Given the description of an element on the screen output the (x, y) to click on. 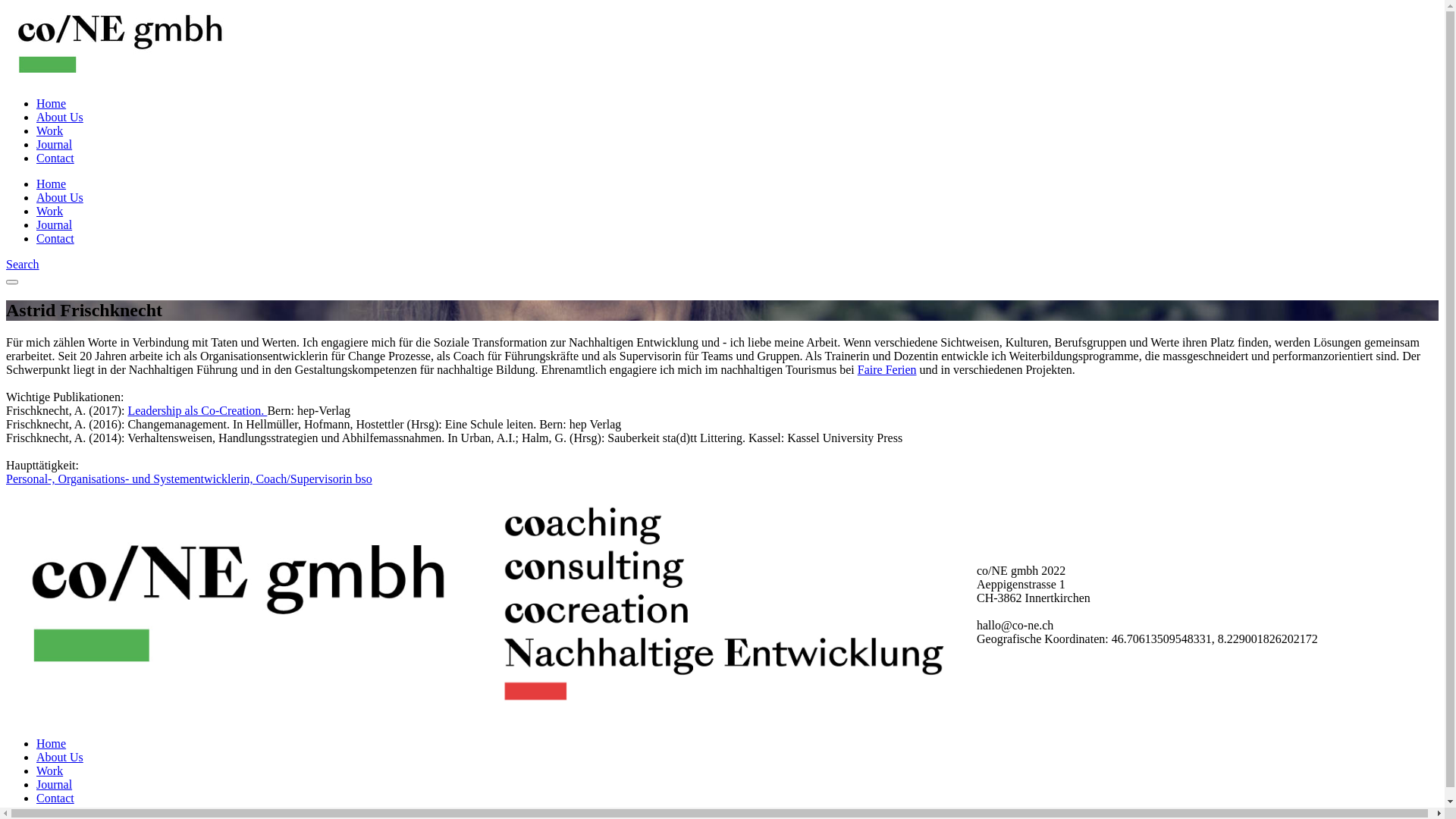
About Us Element type: text (59, 756)
Journal Element type: text (54, 144)
Leadership als Co-Creation.  Element type: text (196, 410)
Contact Element type: text (55, 238)
Search Element type: text (22, 263)
Journal Element type: text (54, 784)
Home Element type: text (50, 183)
Faire Ferien Element type: text (886, 369)
About Us Element type: text (59, 197)
Contact Element type: text (55, 797)
About Us Element type: text (59, 116)
Home Element type: text (50, 103)
Journal Element type: text (54, 224)
Work Element type: text (49, 130)
Work Element type: text (49, 210)
Contact Element type: text (55, 157)
Home Element type: text (50, 743)
Work Element type: text (49, 770)
